Given the description of an element on the screen output the (x, y) to click on. 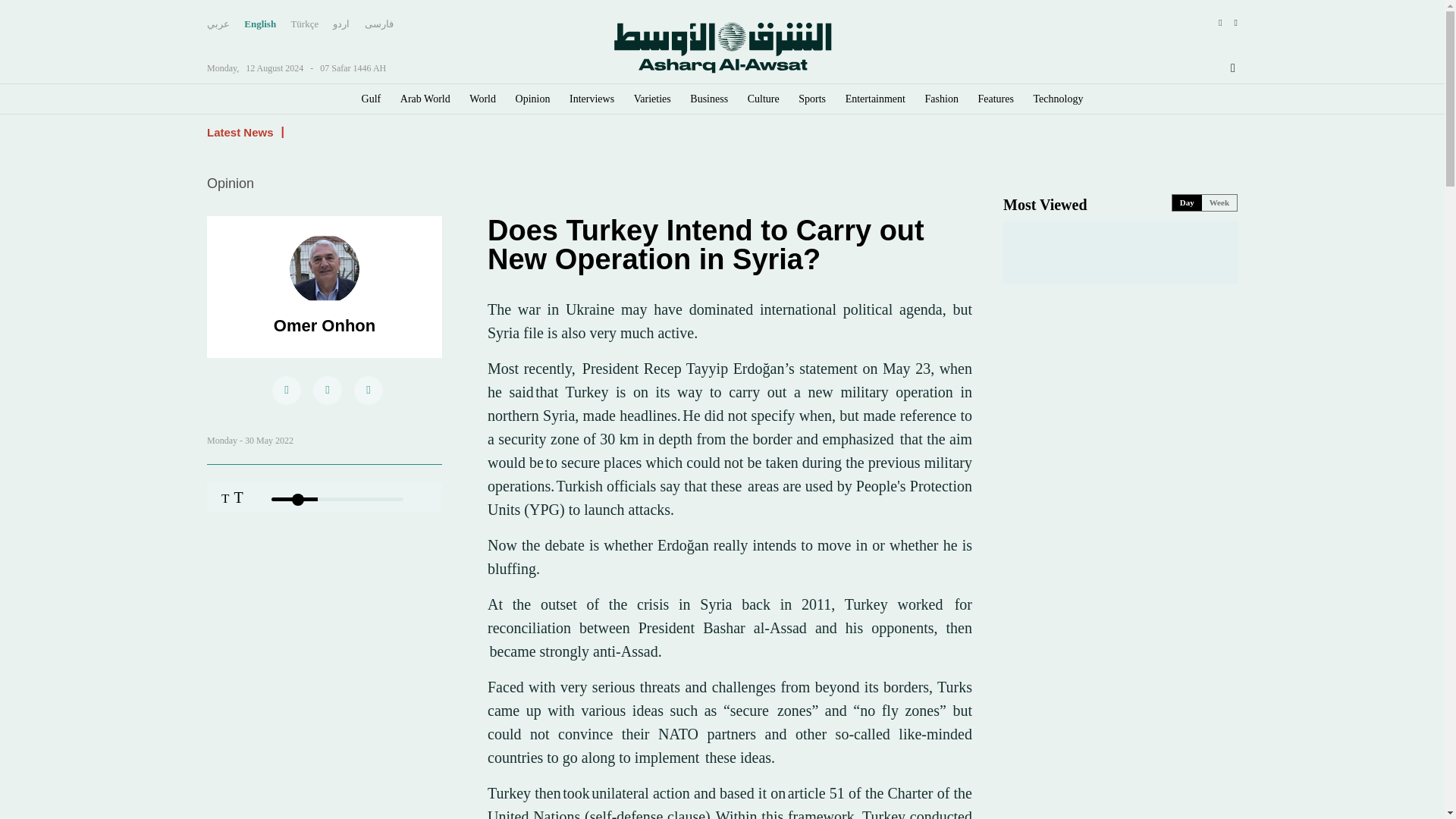
English (260, 24)
Fashion (941, 99)
Sports (811, 99)
Entertainment (875, 99)
Arab World (424, 99)
Opinion (532, 99)
Technology (1058, 99)
Interviews (591, 99)
Business (709, 99)
Varieties (652, 99)
